Given the description of an element on the screen output the (x, y) to click on. 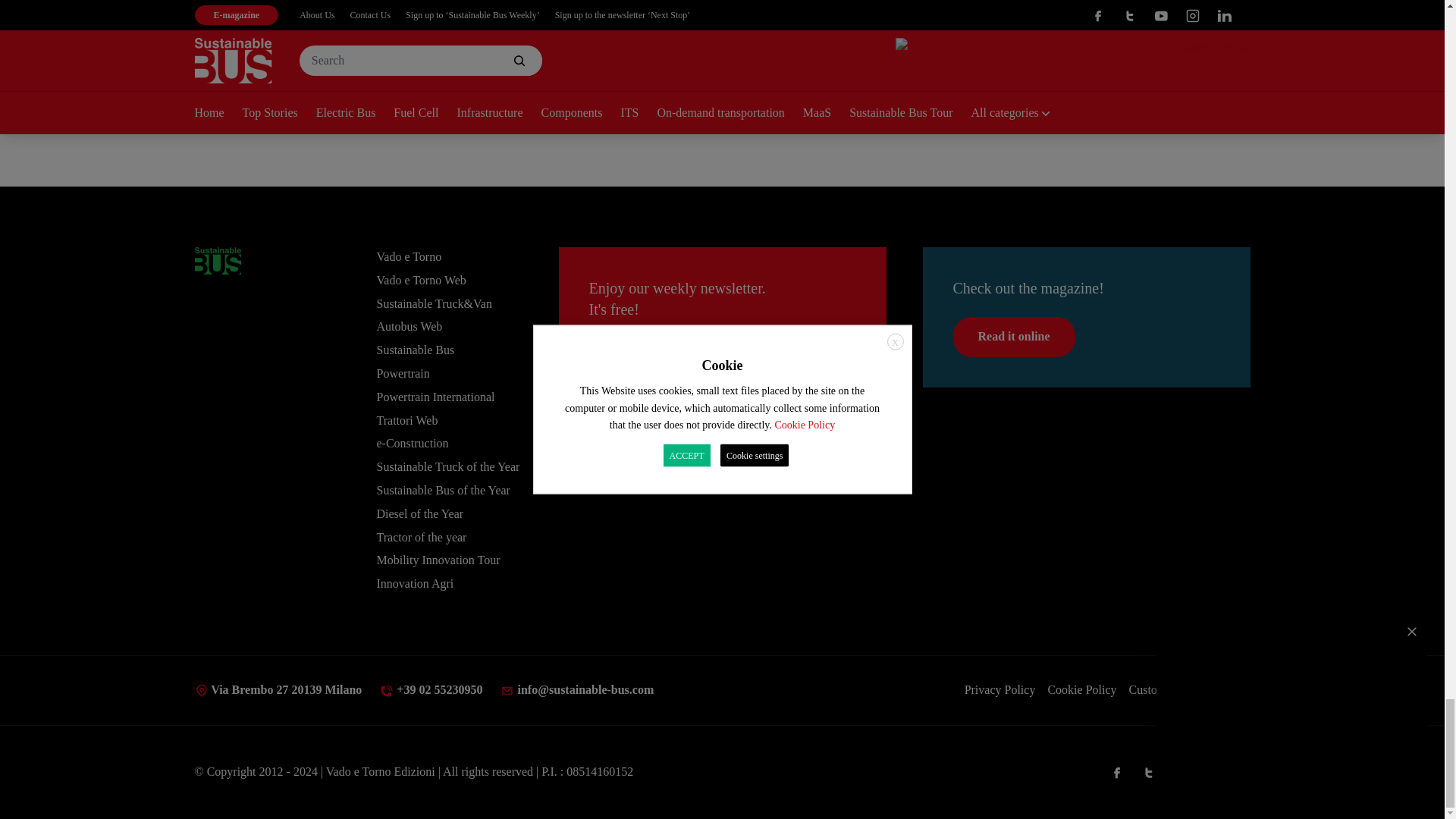
Sustainable Bus (216, 260)
